Given the description of an element on the screen output the (x, y) to click on. 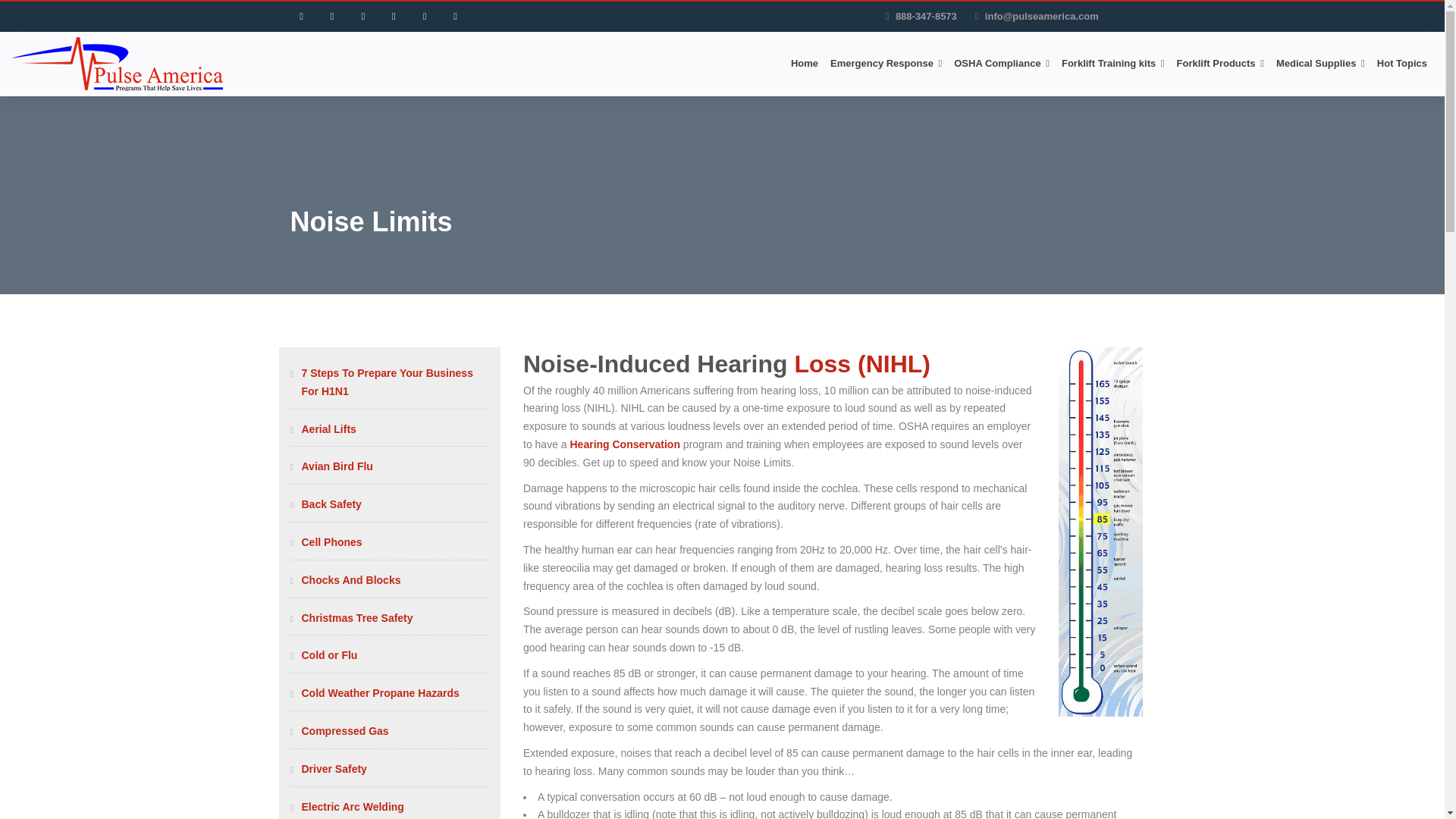
888-347-8573 (925, 16)
Emergency Response (885, 63)
Home (804, 63)
OSHA Compliance (1001, 63)
